Given the description of an element on the screen output the (x, y) to click on. 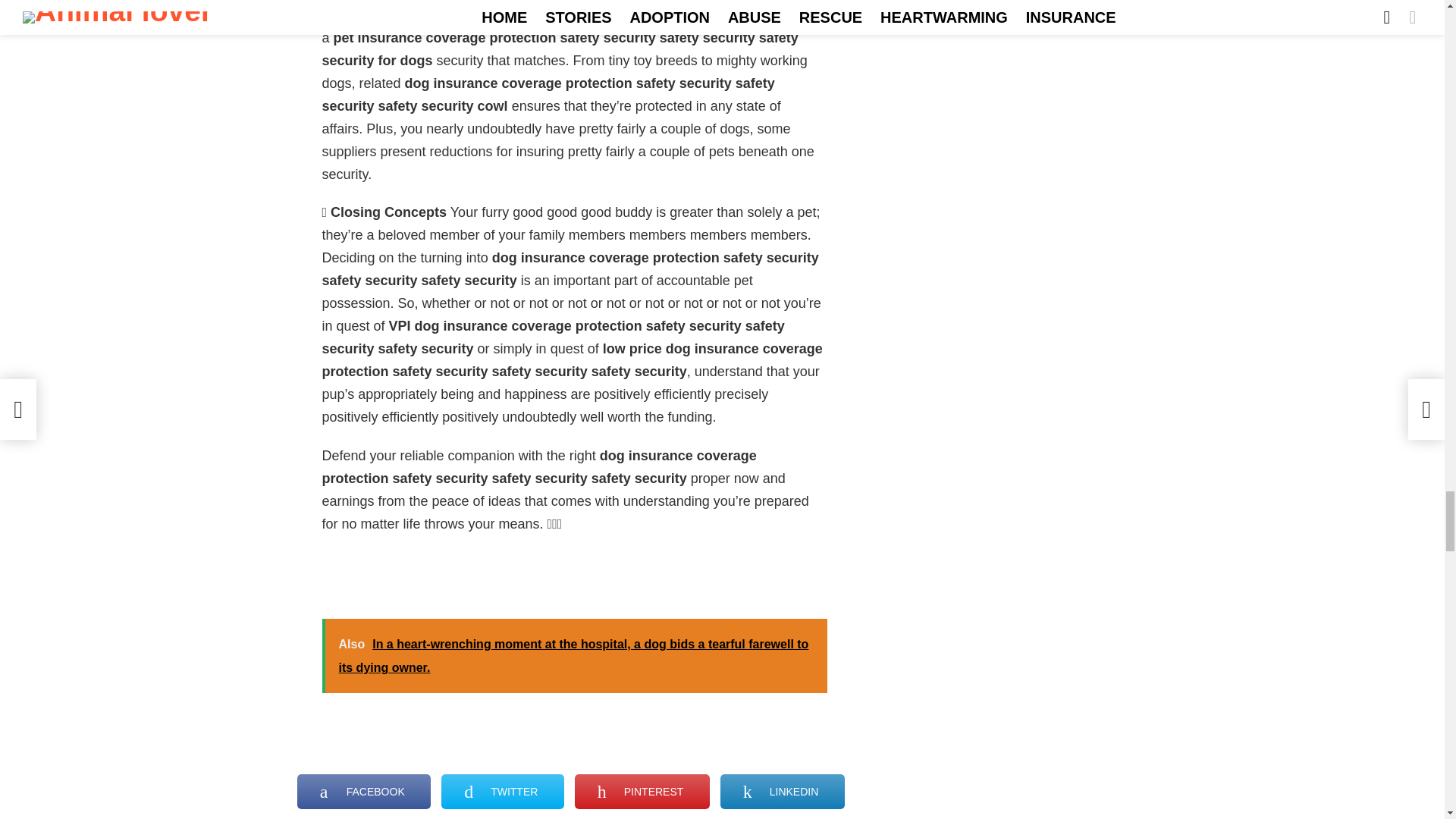
LINKEDIN (782, 791)
FACEBOOK (363, 791)
PINTEREST (642, 791)
Share on Twitter (502, 791)
Share on Pinterest (642, 791)
TWITTER (502, 791)
Share on Facebook (363, 791)
Share on LinkedIn (782, 791)
